Given the description of an element on the screen output the (x, y) to click on. 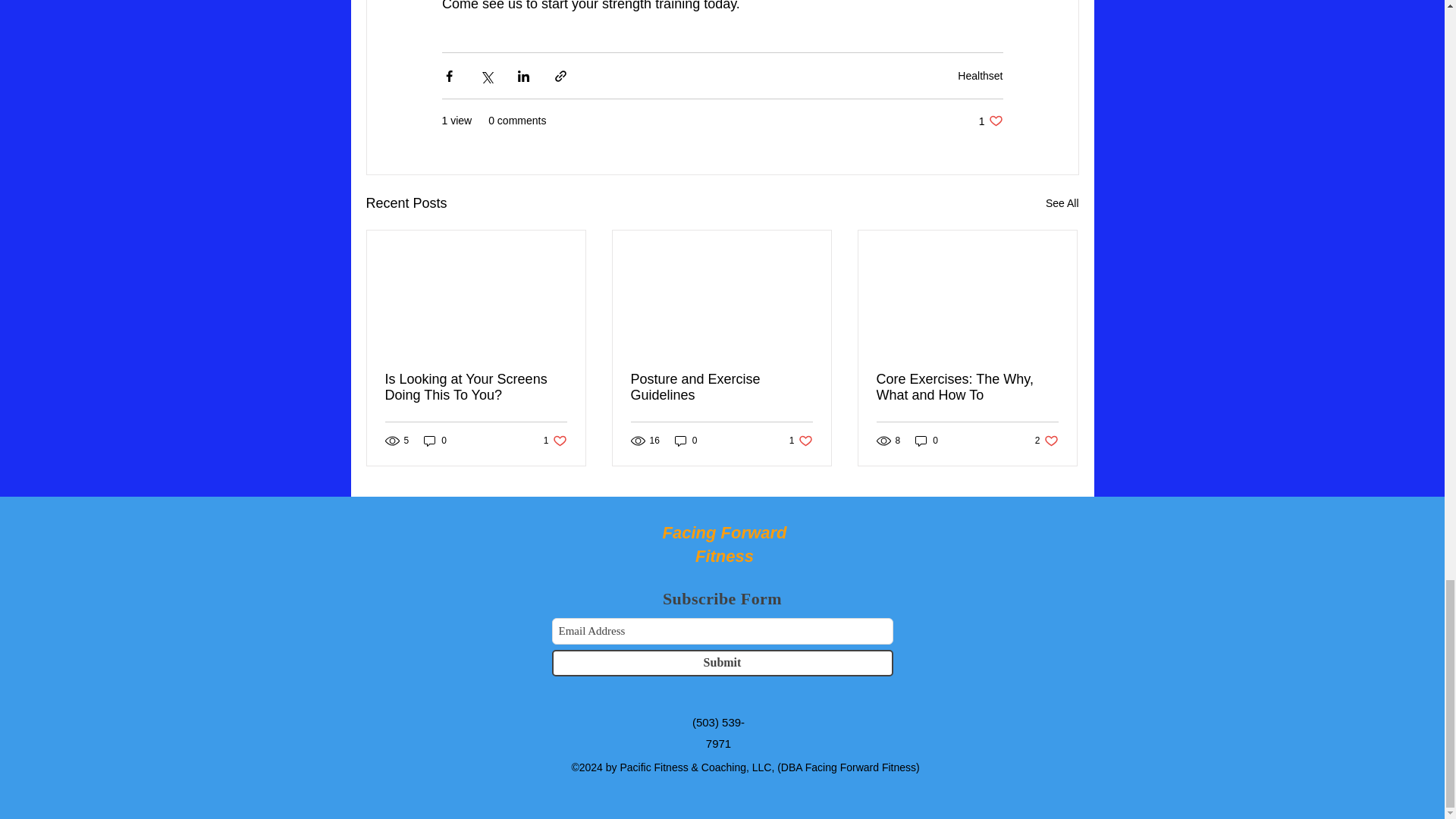
Posture and Exercise Guidelines (721, 387)
0 (926, 440)
Is Looking at Your Screens Doing This To You? (555, 440)
See All (476, 387)
Healthset (1046, 440)
0 (1061, 203)
0 (980, 75)
